Given the description of an element on the screen output the (x, y) to click on. 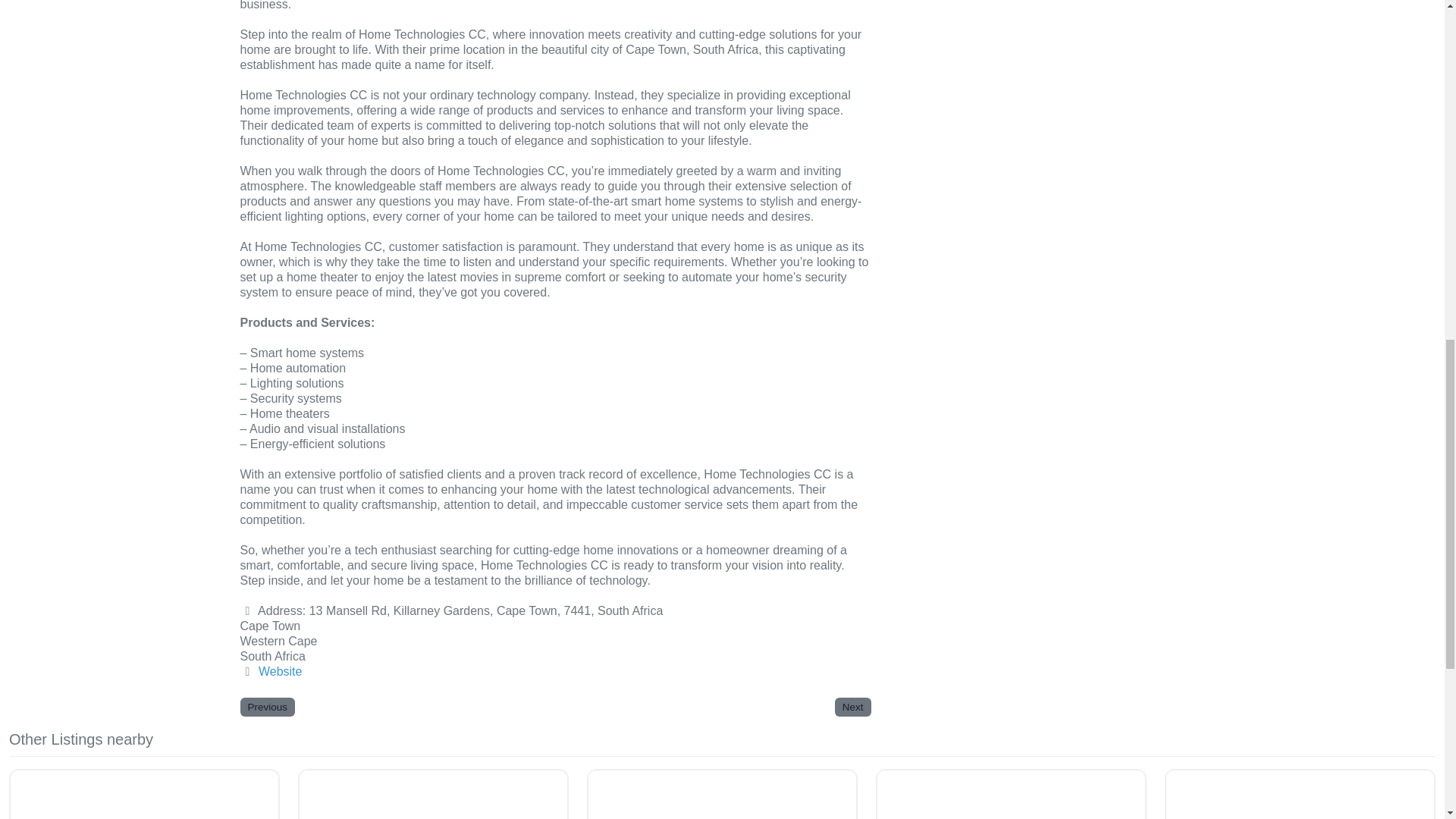
Previous (267, 706)
Next (852, 706)
Website (280, 671)
